Given the description of an element on the screen output the (x, y) to click on. 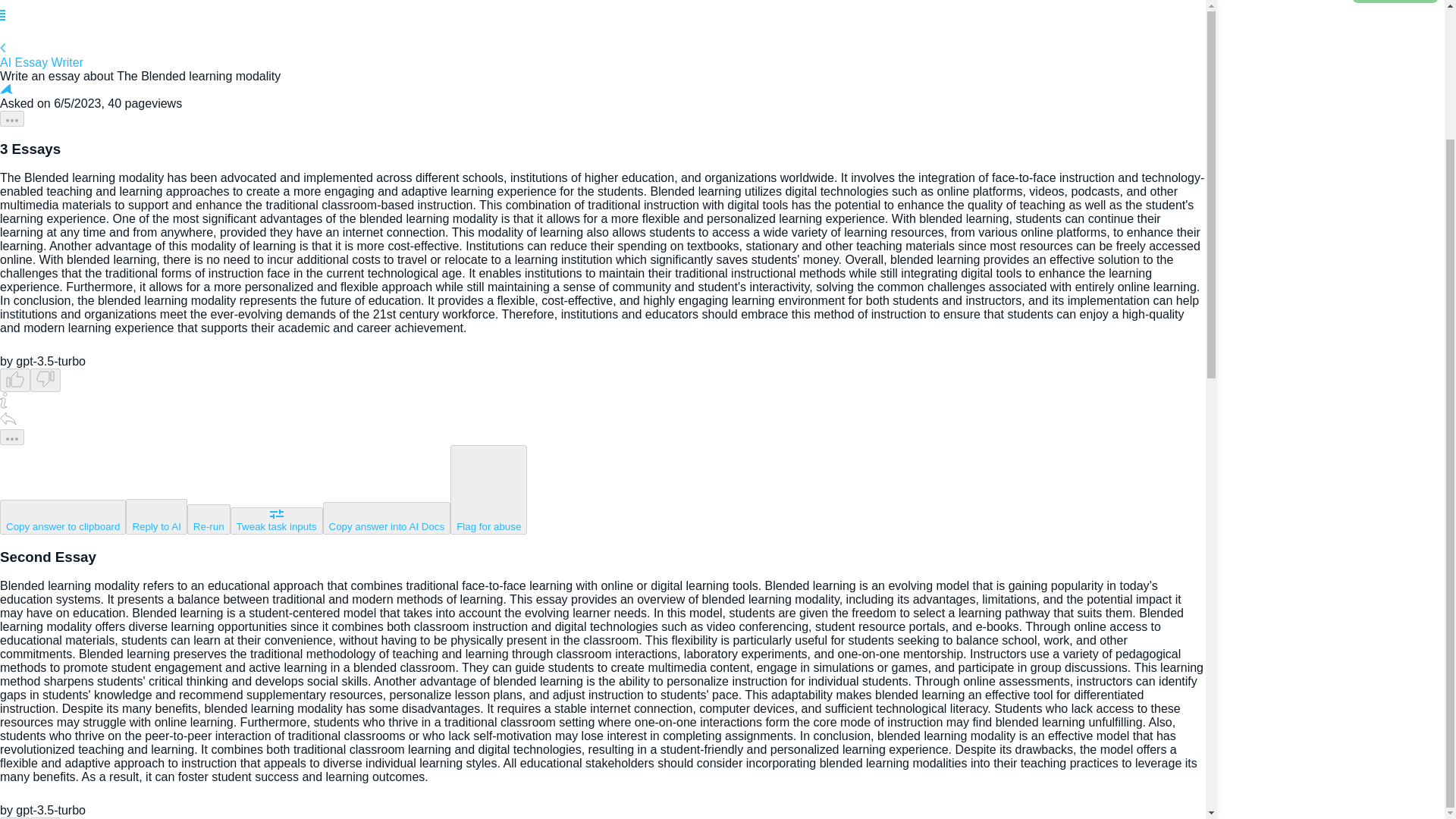
Re-run (208, 519)
AI Essay Writer (602, 55)
Copy answer to clipboard (62, 516)
Reply to AI (155, 516)
Flag for abuse (488, 489)
Tweak task inputs (276, 520)
Copy answer into AI Docs (387, 518)
